Given the description of an element on the screen output the (x, y) to click on. 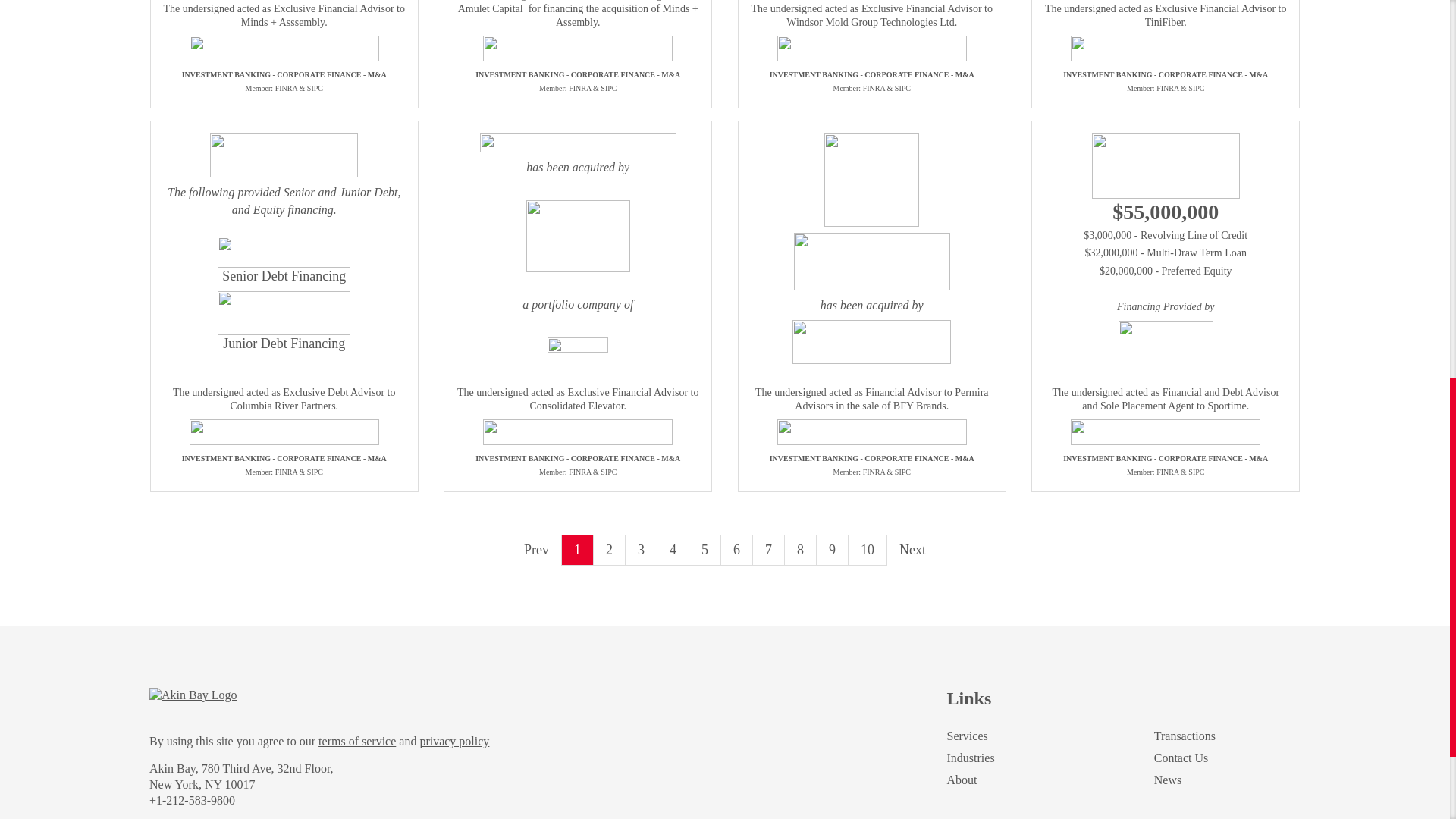
Next (912, 549)
7 (768, 550)
9 (832, 550)
10 (867, 550)
1 (578, 550)
4 (673, 550)
5 (704, 550)
3 (642, 550)
2 (610, 550)
6 (736, 550)
Prev (536, 549)
8 (800, 550)
